Given the description of an element on the screen output the (x, y) to click on. 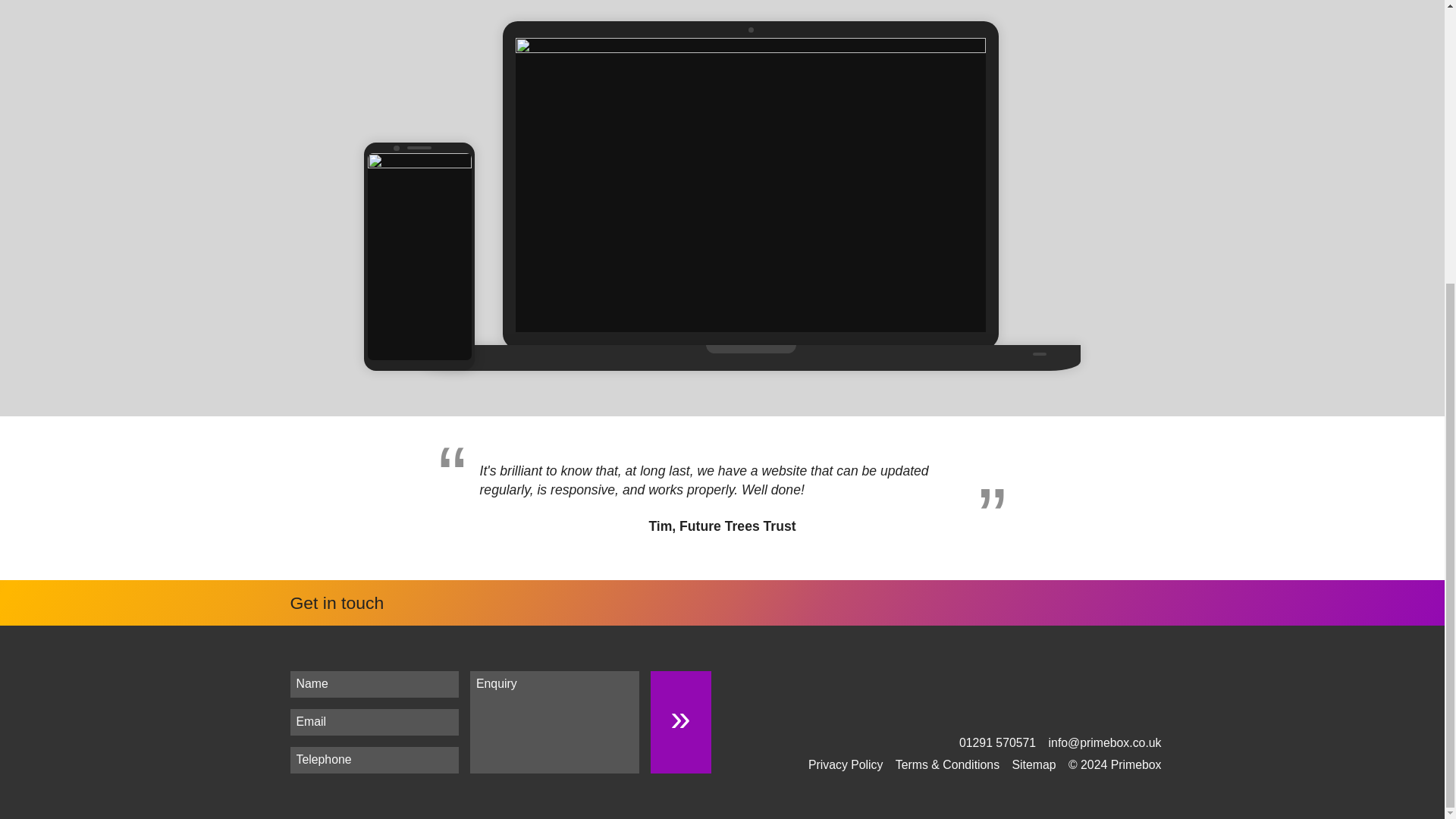
Follow on Twitter (1147, 709)
Follow on Facebook (1107, 709)
Like on Facebook (1107, 709)
Privacy Policy (845, 764)
Follow on Twitter (1147, 709)
Sitemap (1033, 764)
01291 570571 (997, 742)
